Given the description of an element on the screen output the (x, y) to click on. 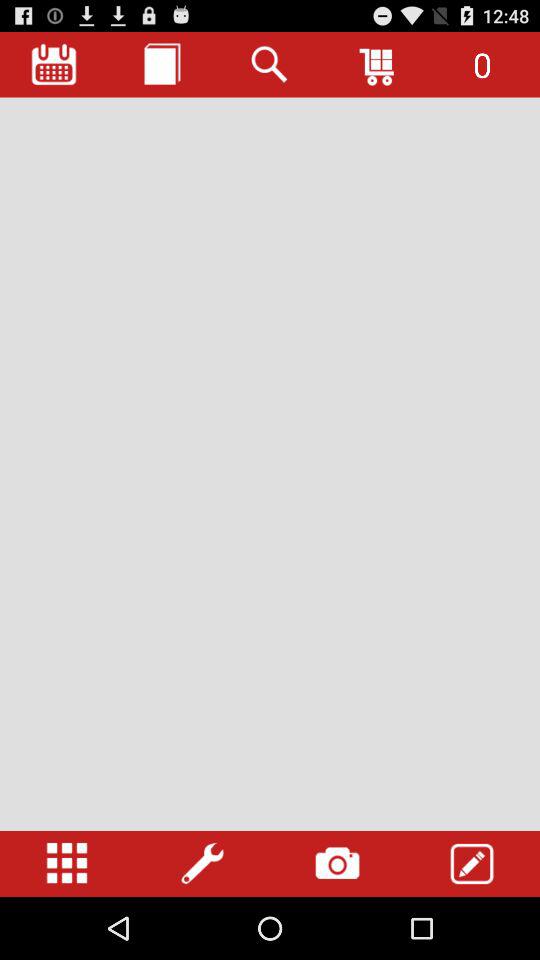
numbers (67, 863)
